Given the description of an element on the screen output the (x, y) to click on. 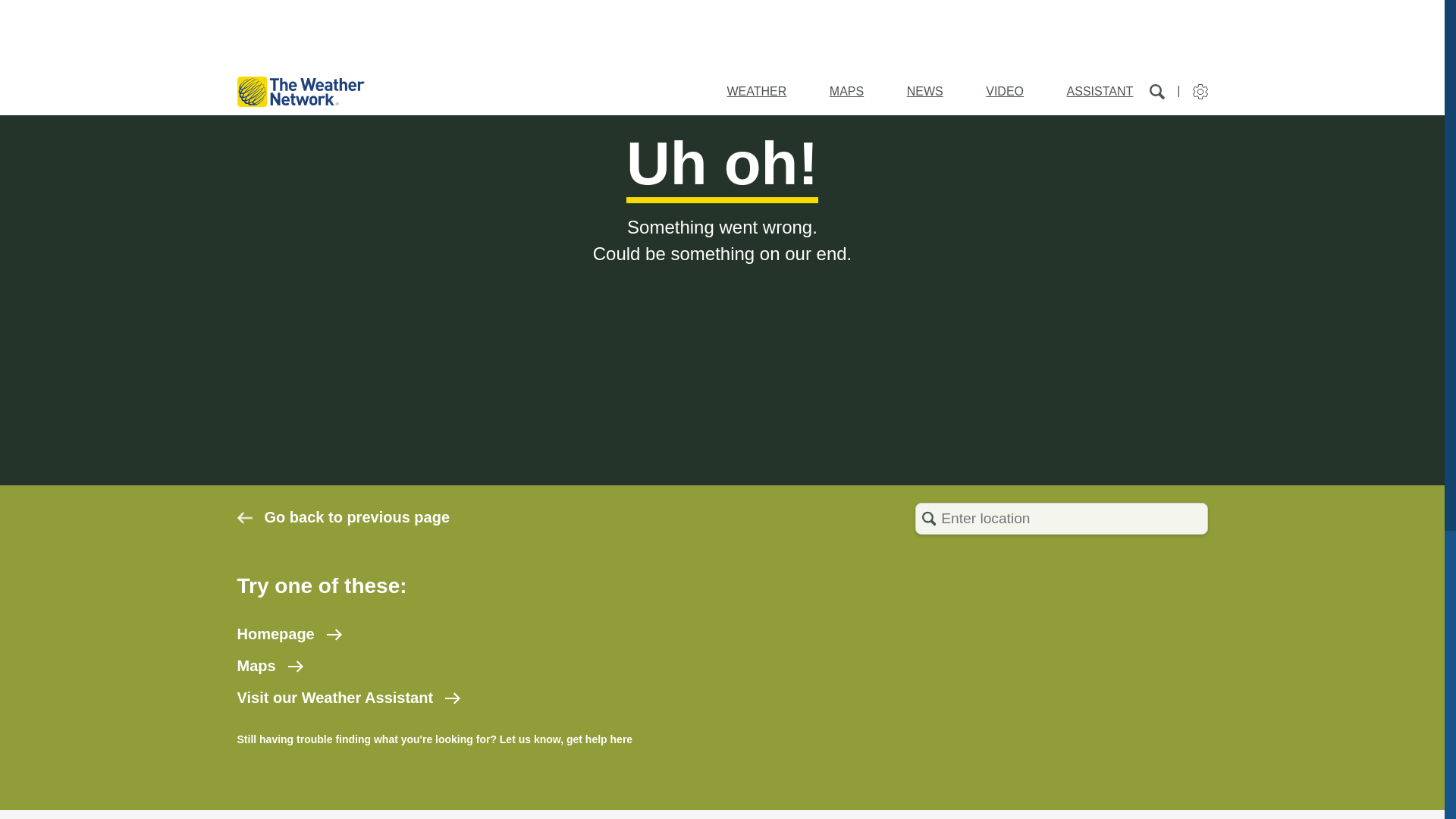
NEWS (924, 91)
WEATHER (756, 91)
Visit our Weather Assistant (347, 697)
ASSISTANT (1100, 91)
Go back to previous page (342, 517)
Homepage (287, 633)
Maps (268, 665)
MAPS (846, 91)
VIDEO (1004, 91)
